Given the description of an element on the screen output the (x, y) to click on. 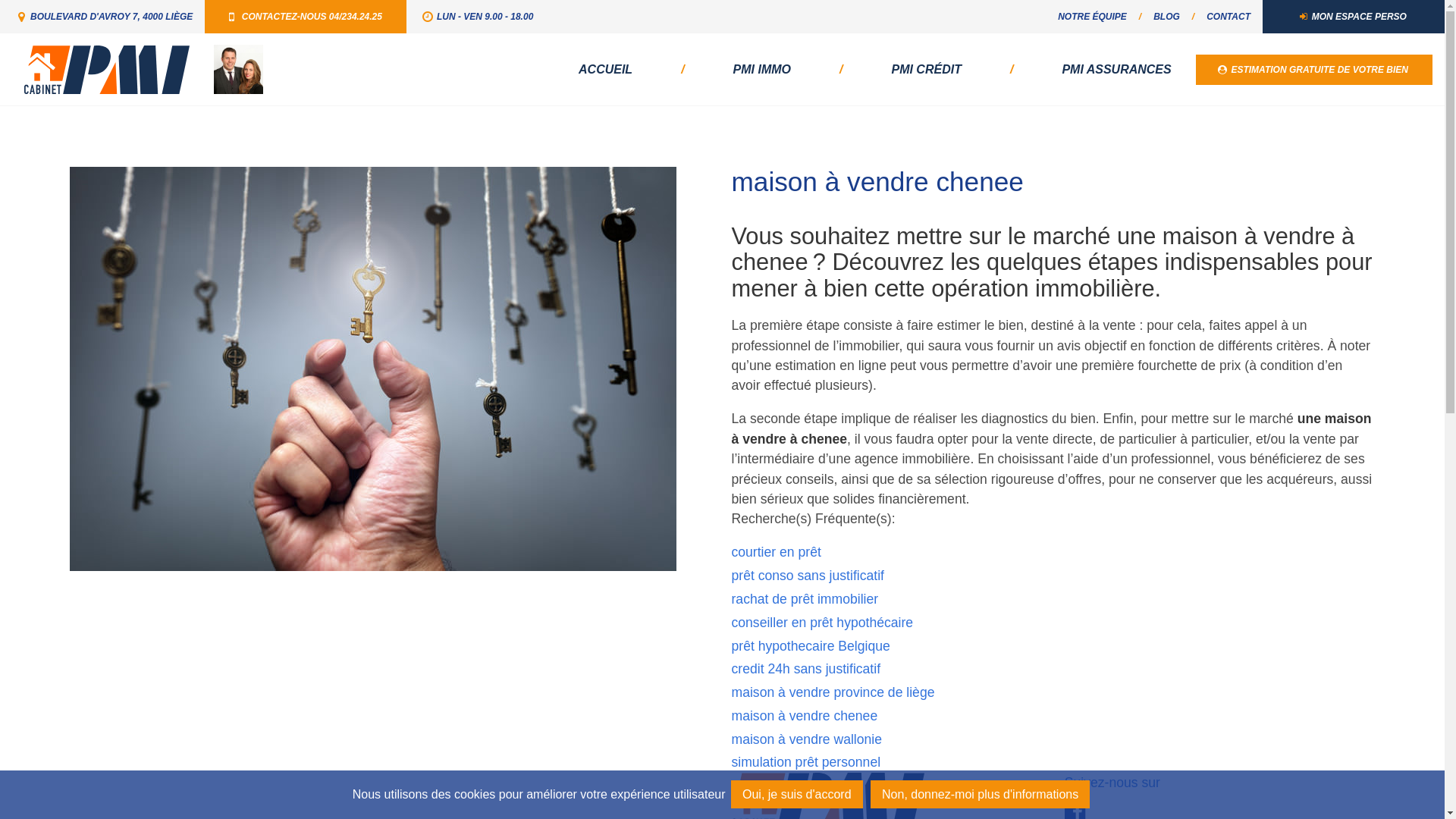
CONTACTEZ-NOUS 04/234.24.25 Element type: text (305, 16)
MON ESPACE PERSO Element type: text (1353, 16)
Oui, je suis d'accord Element type: text (796, 794)
ACCUEIL Element type: text (605, 69)
ESTIMATION GRATUITE DE VOTRE BIEN Element type: text (1313, 69)
BLOG Element type: text (1166, 16)
Non, donnez-moi plus d'informations Element type: text (979, 794)
PMI IMMO Element type: text (762, 69)
CONTACT Element type: text (1228, 16)
Aller au contenu principal Element type: text (0, 0)
PMI ASSURANCES Element type: text (1116, 69)
credit 24h sans justificatif Element type: text (805, 668)
LUN - VEN 9.00 - 18.00 Element type: text (475, 16)
